Given the description of an element on the screen output the (x, y) to click on. 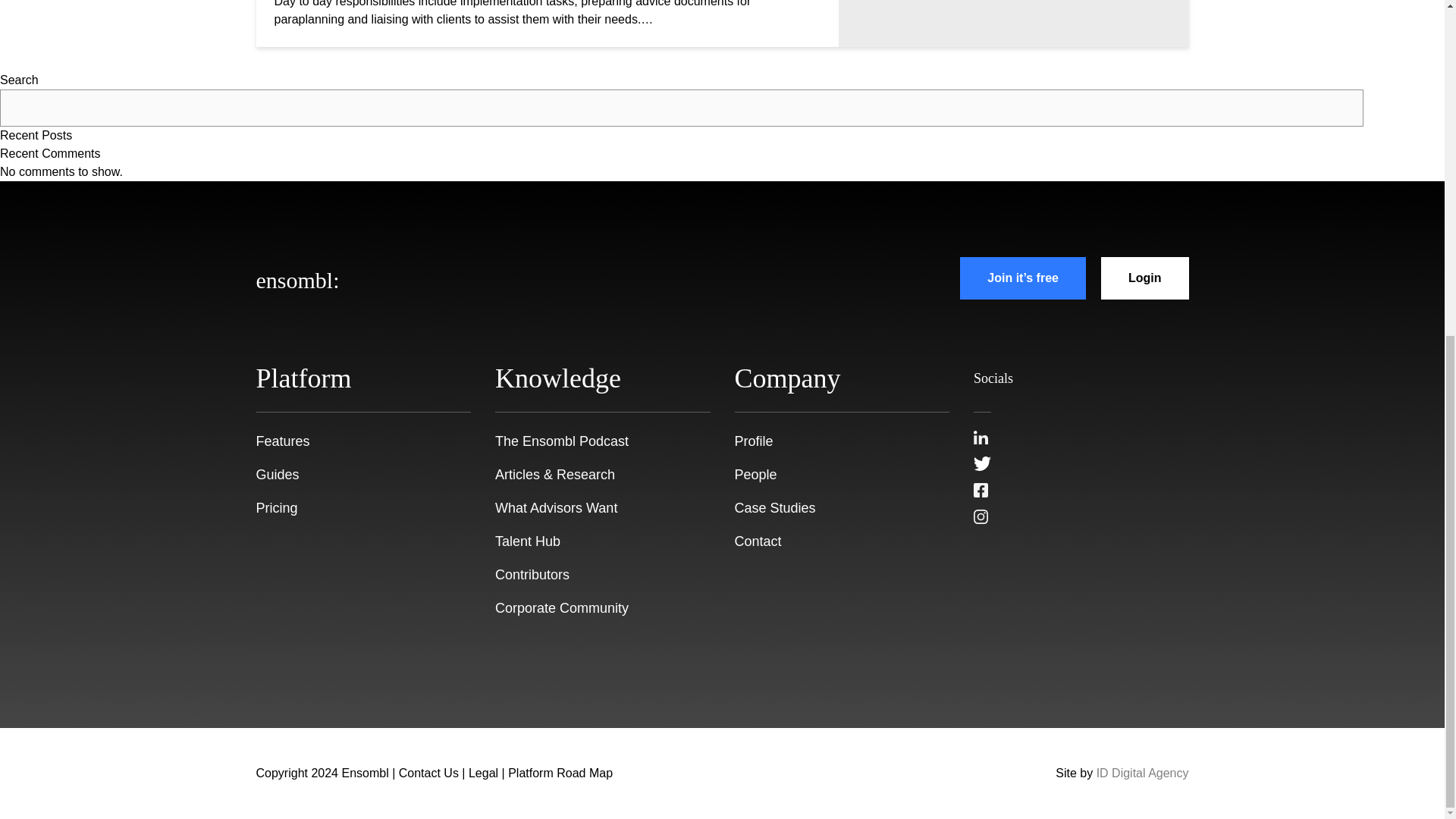
Guides (277, 474)
Platform (304, 378)
Features (283, 441)
ensombl: (297, 277)
Login (1144, 278)
